Given the description of an element on the screen output the (x, y) to click on. 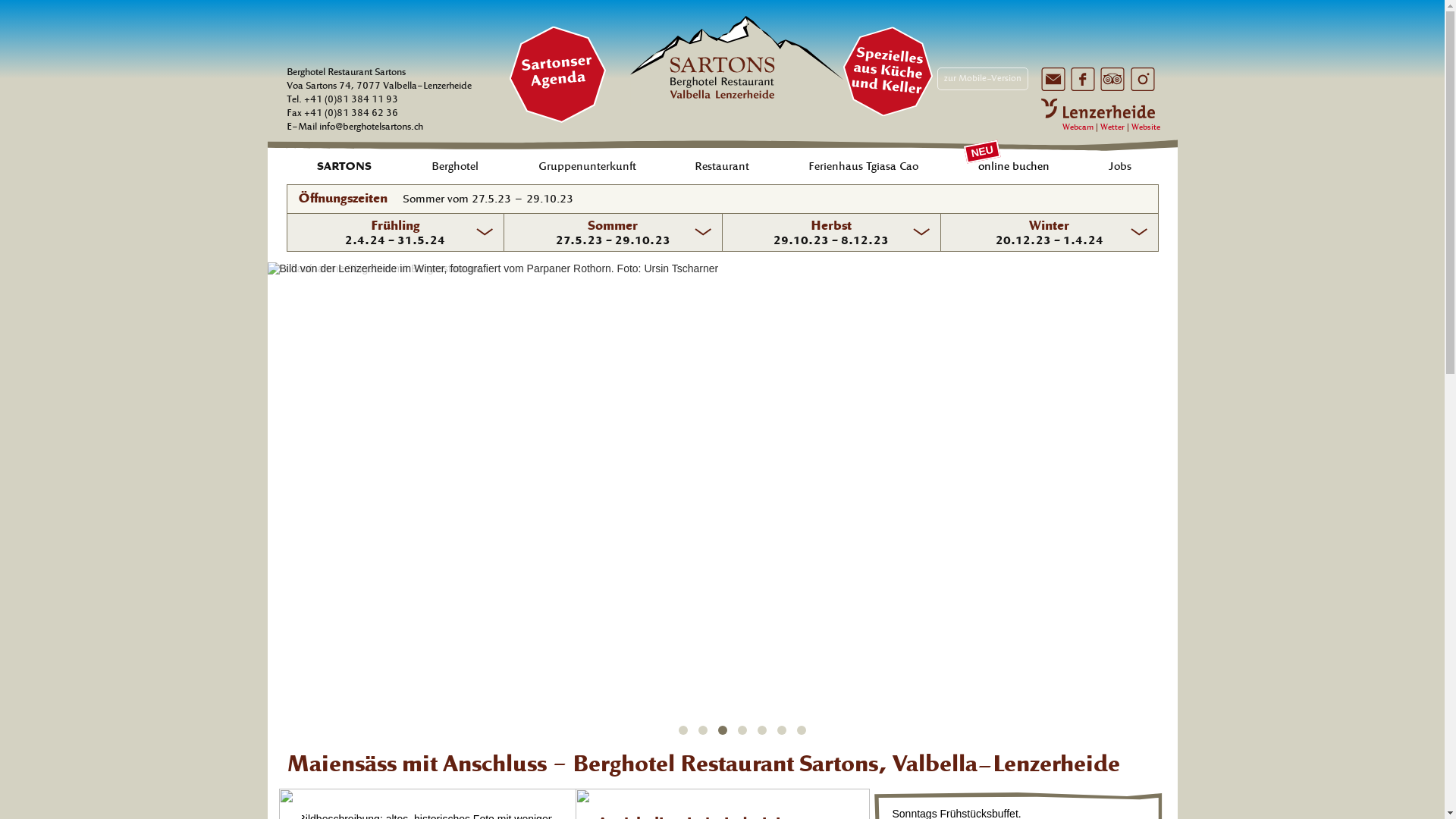
gehe zur Smartphone-Version Element type: hover (982, 78)
online buchen Element type: text (1014, 164)
Bergrestaurant Sartons, Valbella-Lenzerheide Element type: hover (721, 489)
Gruppenunterkunft Element type: text (587, 164)
Ferienhaus Tgiasa Cao Element type: text (863, 164)
Jobs Element type: text (1120, 164)
zur Mobile-Version Element type: text (982, 78)
Wetter Element type: text (1111, 126)
mailen Sie uns! Element type: hover (1052, 79)
SARTONS Element type: text (344, 164)
Sartonser Agenda vom Berghotel Restaurant Sartons Element type: hover (553, 70)
info@berghotelsartons.ch Element type: text (370, 126)
Willkommen in der Feriendestination Lenzerheide Element type: hover (1097, 108)
Restaurant Element type: text (721, 164)
Startseite SARTONS Element type: hover (736, 60)
Sartonser Agenda vom Berghotel Restaurant Sartons Element type: hover (882, 66)
Website Element type: text (1145, 126)
Webcam Element type: text (1076, 126)
Berghotel Element type: text (454, 164)
folgen Sie uns auf Instagram Element type: hover (1141, 79)
bewerten Sie uns auf Trip Advisor Element type: hover (1111, 79)
folgen und liken Sie uns auf Facebook Element type: hover (1082, 79)
schauen Sie durch unsere Nachbars Webcam Element type: hover (1129, 126)
